Given the description of an element on the screen output the (x, y) to click on. 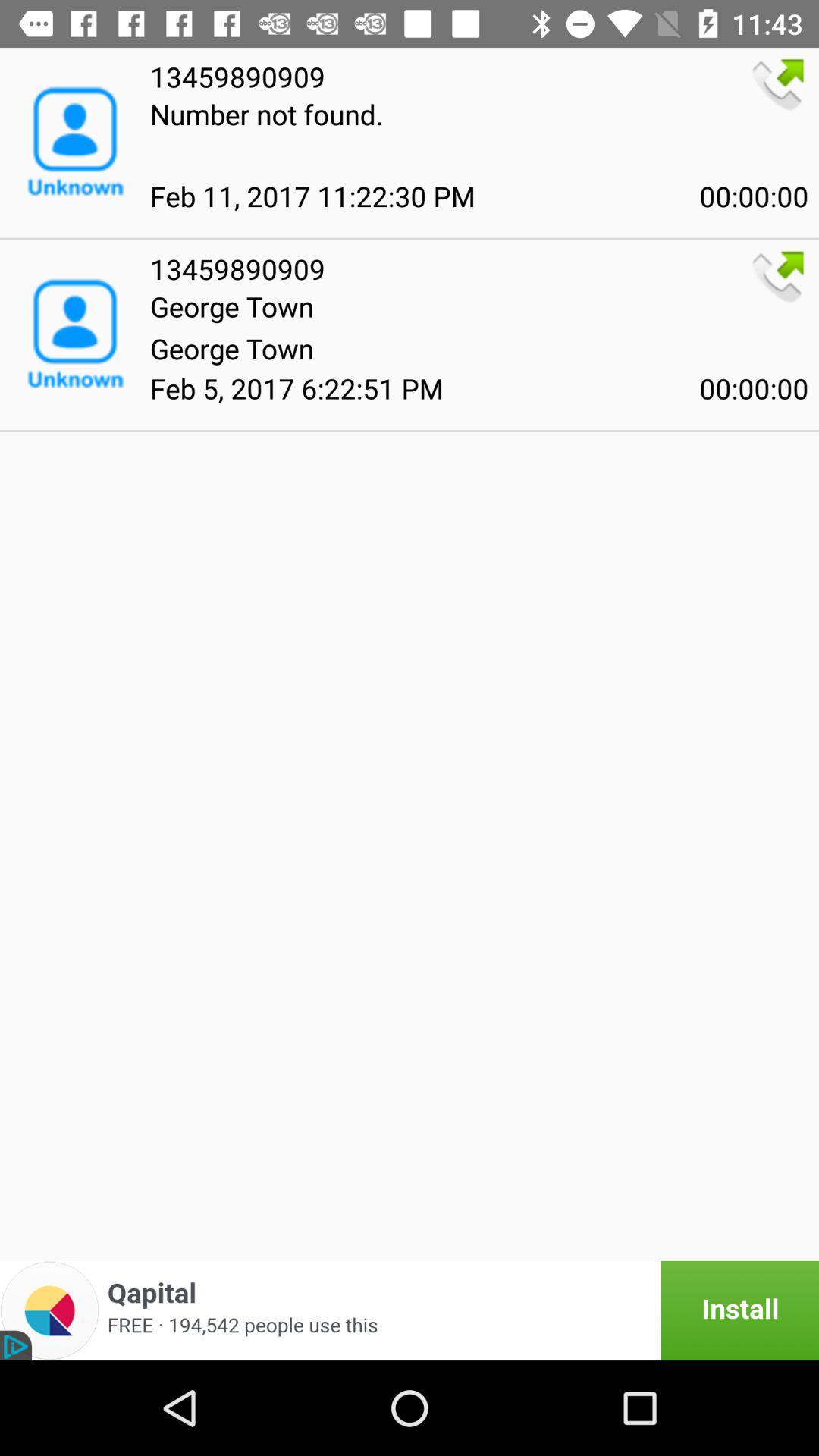
install the free qapital (409, 1310)
